Given the description of an element on the screen output the (x, y) to click on. 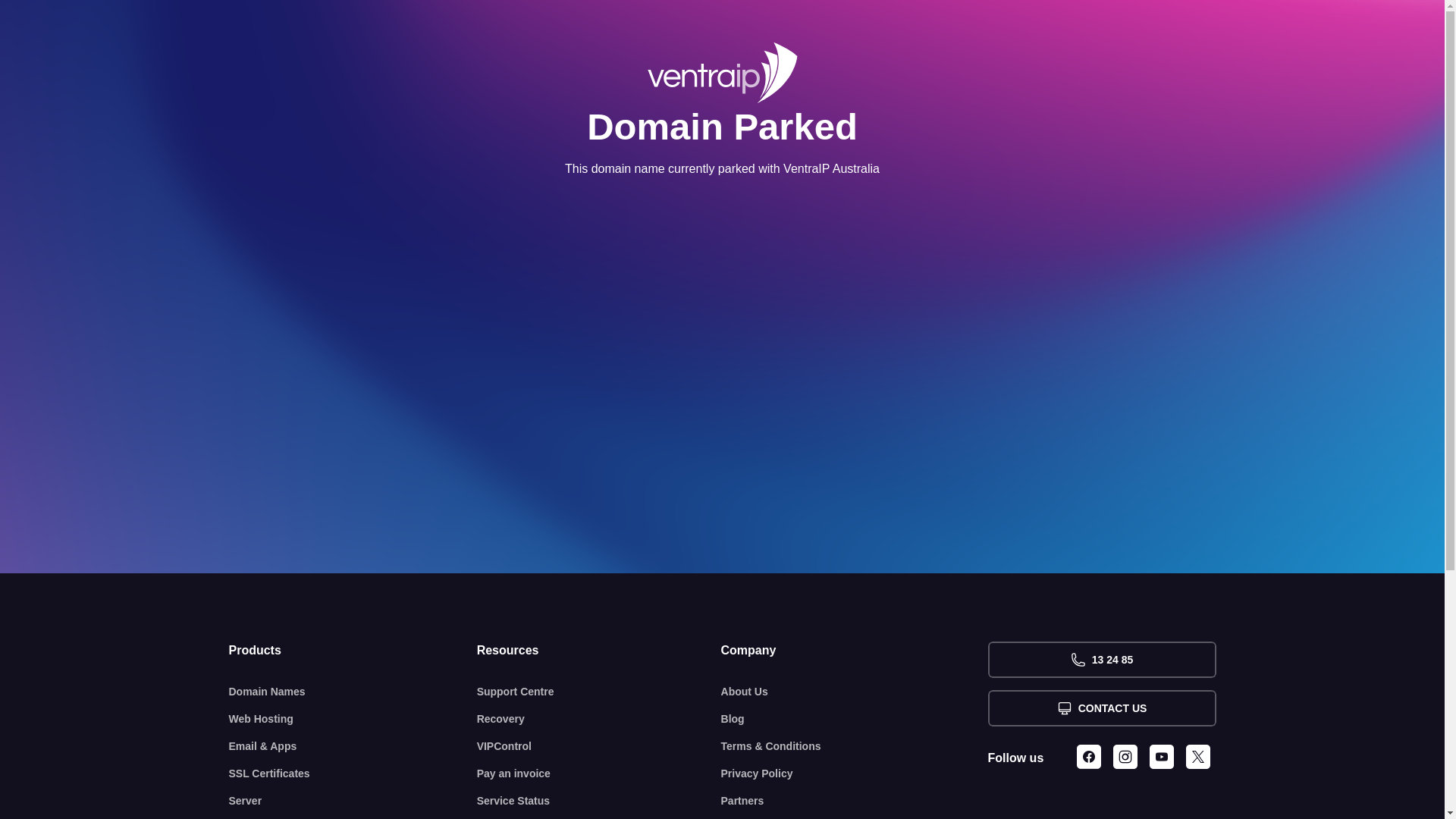
Partners Element type: text (854, 800)
Privacy Policy Element type: text (854, 773)
Web Hosting Element type: text (352, 718)
Pay an invoice Element type: text (598, 773)
Terms & Conditions Element type: text (854, 745)
Support Centre Element type: text (598, 691)
SSL Certificates Element type: text (352, 773)
Service Status Element type: text (598, 800)
Recovery Element type: text (598, 718)
13 24 85 Element type: text (1101, 659)
Server Element type: text (352, 800)
About Us Element type: text (854, 691)
VIPControl Element type: text (598, 745)
Blog Element type: text (854, 718)
Domain Names Element type: text (352, 691)
CONTACT US Element type: text (1101, 708)
Email & Apps Element type: text (352, 745)
